Given the description of an element on the screen output the (x, y) to click on. 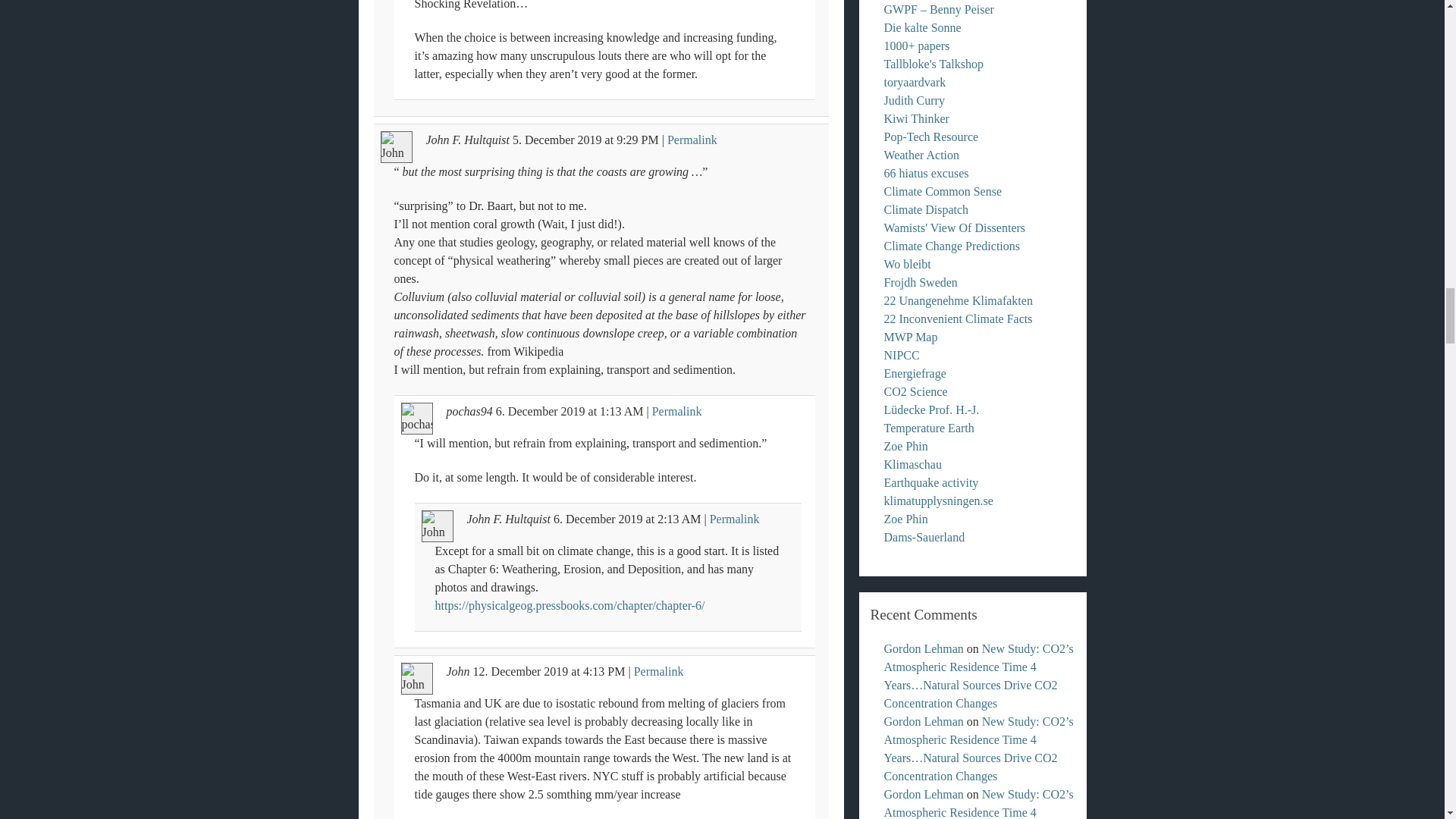
Permalink (676, 410)
Permalink (735, 518)
Permalink (691, 139)
Permalink (658, 671)
